Given the description of an element on the screen output the (x, y) to click on. 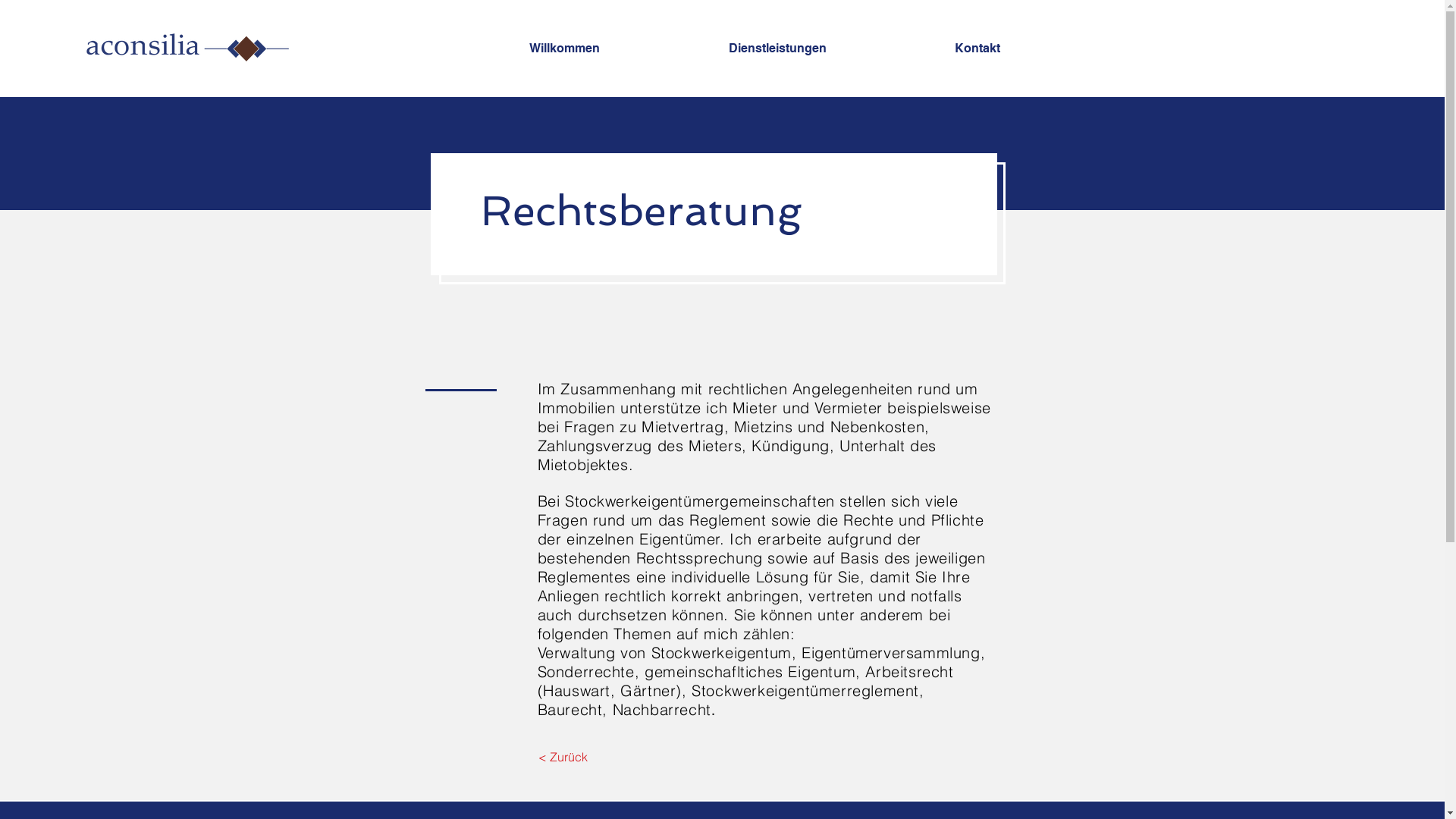
Willkommen Element type: text (616, 48)
Dienstleistungen Element type: text (830, 48)
Kontakt Element type: text (1030, 48)
